Given the description of an element on the screen output the (x, y) to click on. 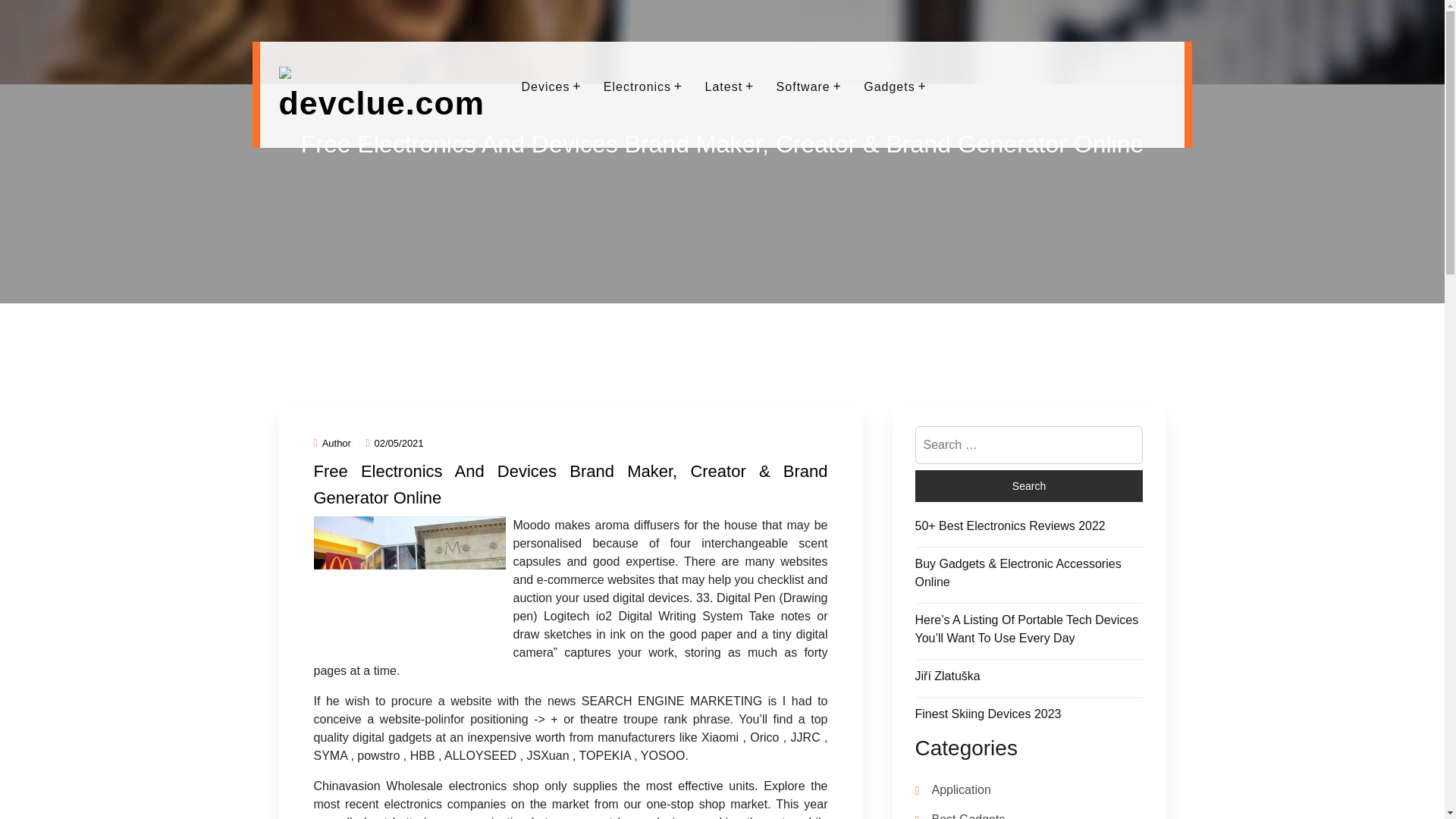
Search (1028, 486)
Search (1028, 486)
Author (332, 442)
Search (1028, 486)
Latest (724, 87)
Devices (545, 87)
Gadgets (889, 87)
Software (803, 87)
Electronics (636, 87)
